Given the description of an element on the screen output the (x, y) to click on. 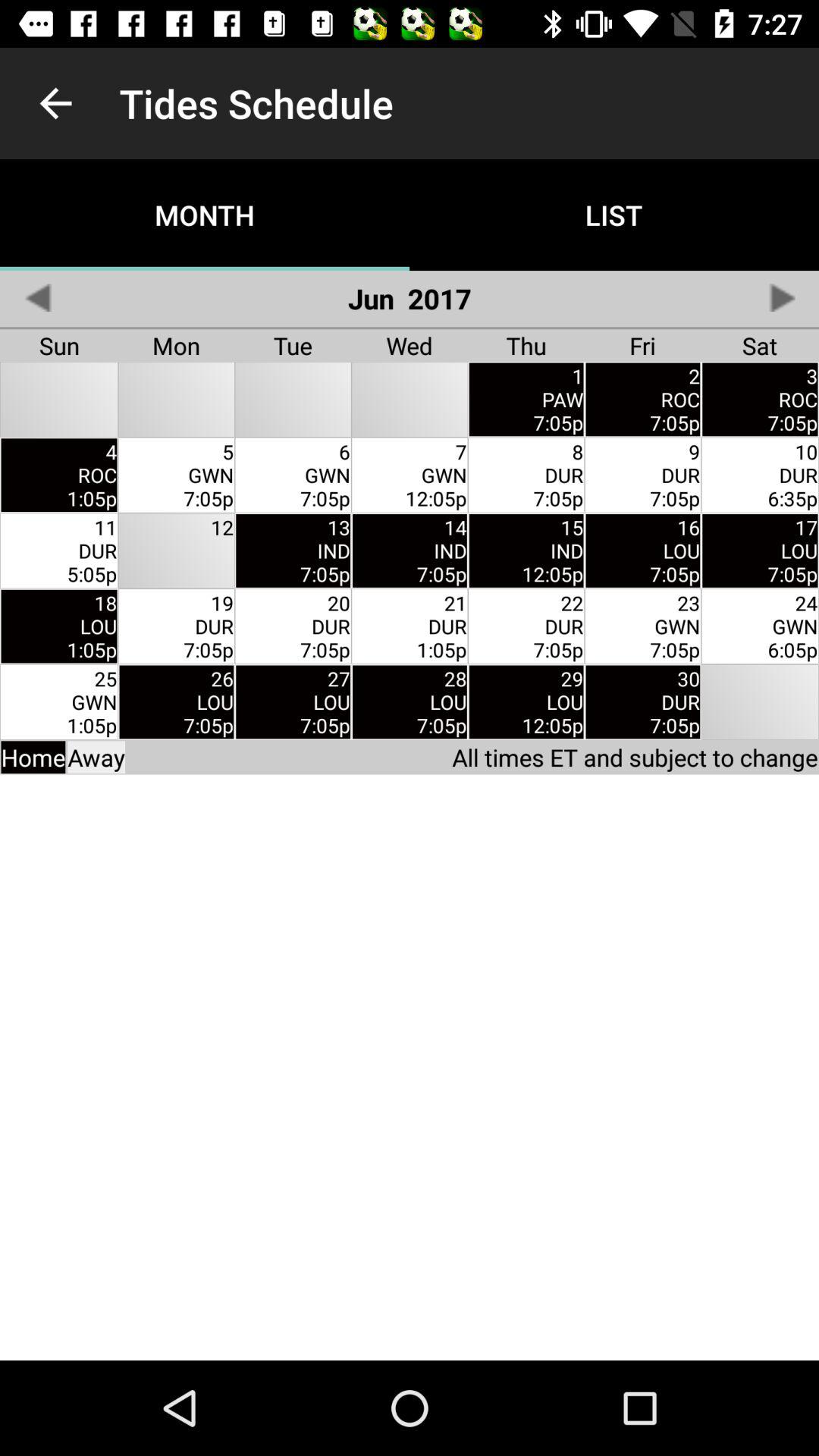
go back (37, 297)
